Given the description of an element on the screen output the (x, y) to click on. 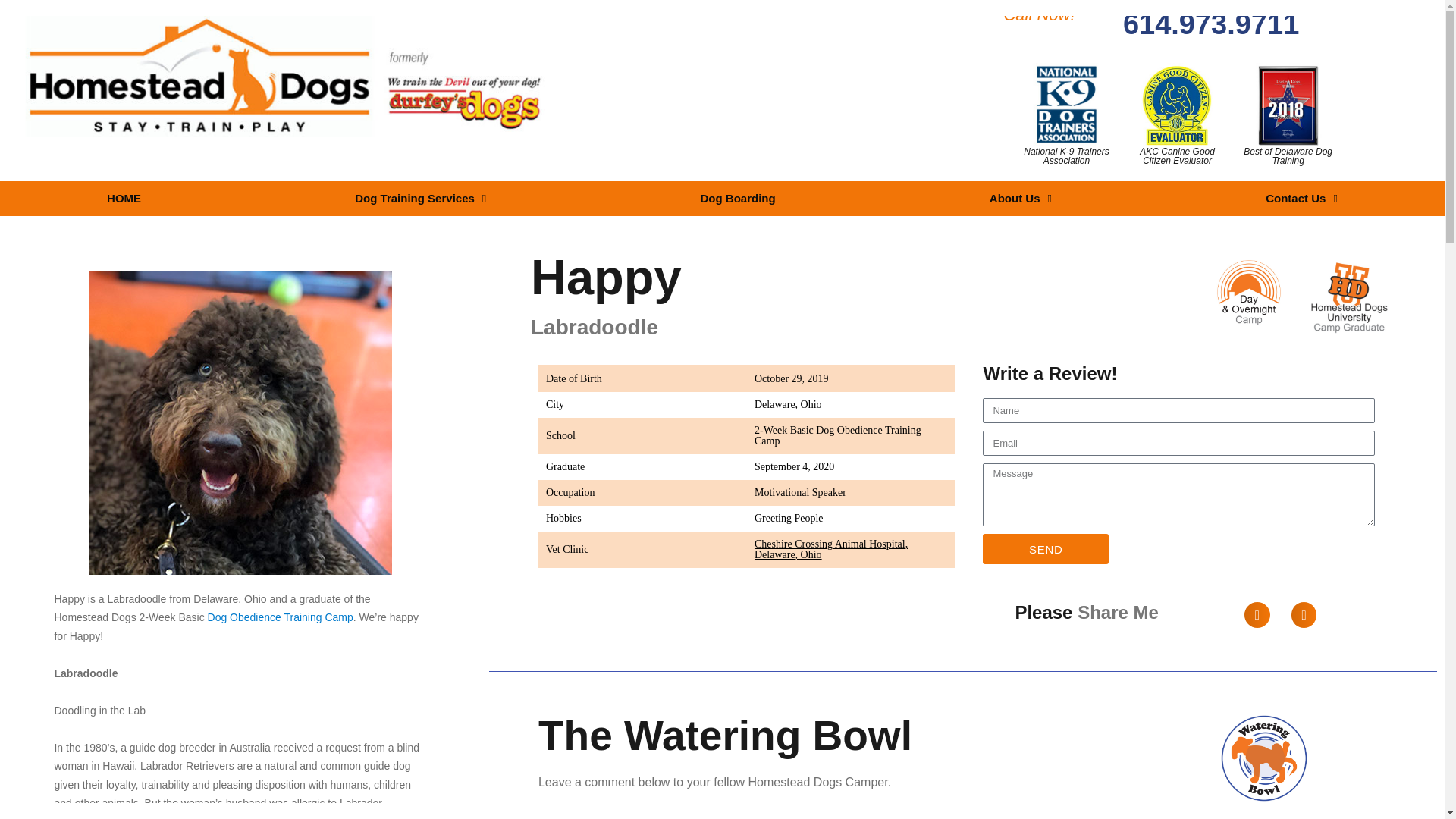
Dog Training Services (419, 198)
HOME (123, 198)
